Given the description of an element on the screen output the (x, y) to click on. 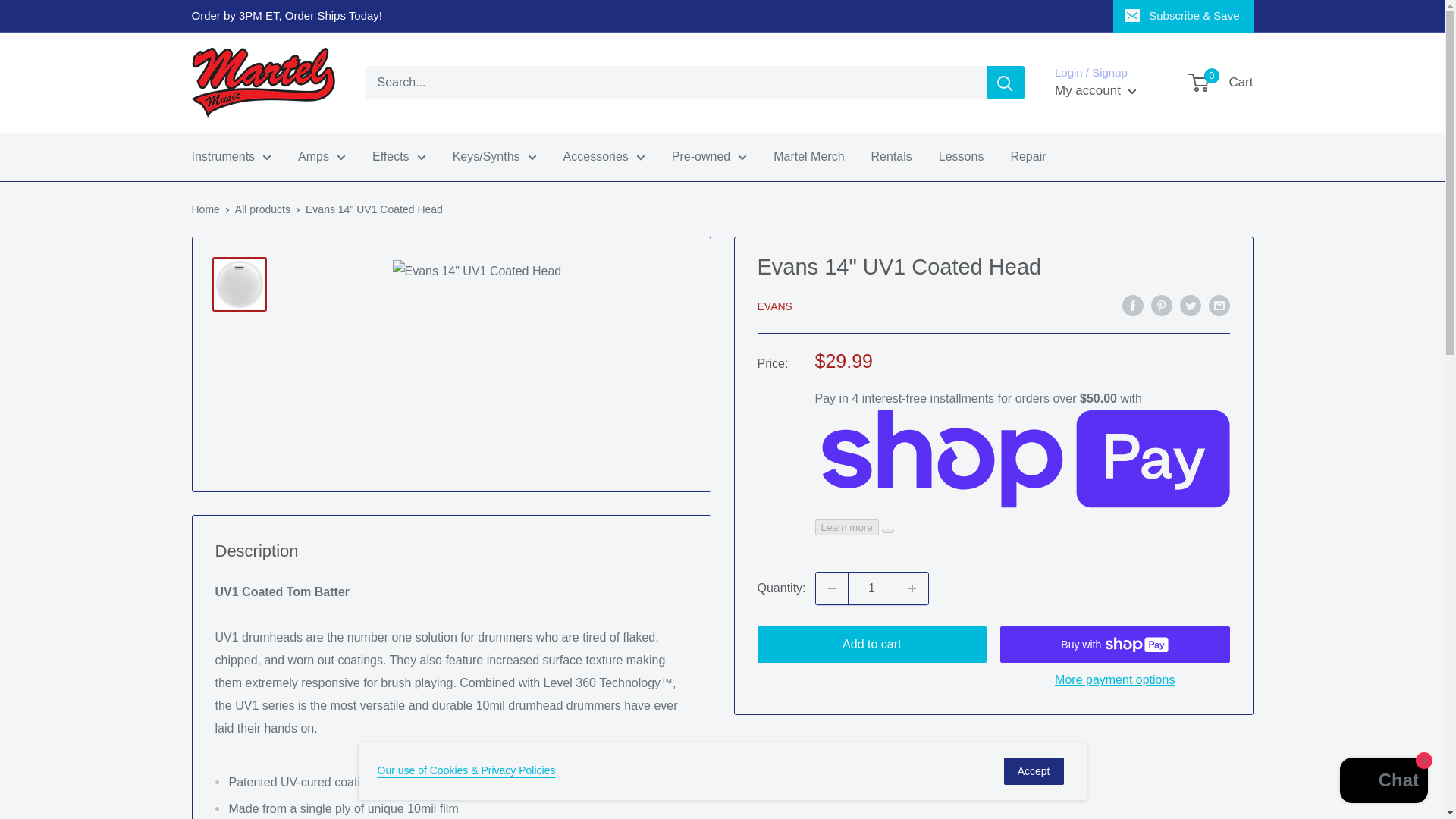
Increase quantity by 1 (912, 588)
1 (871, 588)
Privacy Policy (466, 770)
Decrease quantity by 1 (831, 588)
Shopify online store chat (1383, 781)
